Given the description of an element on the screen output the (x, y) to click on. 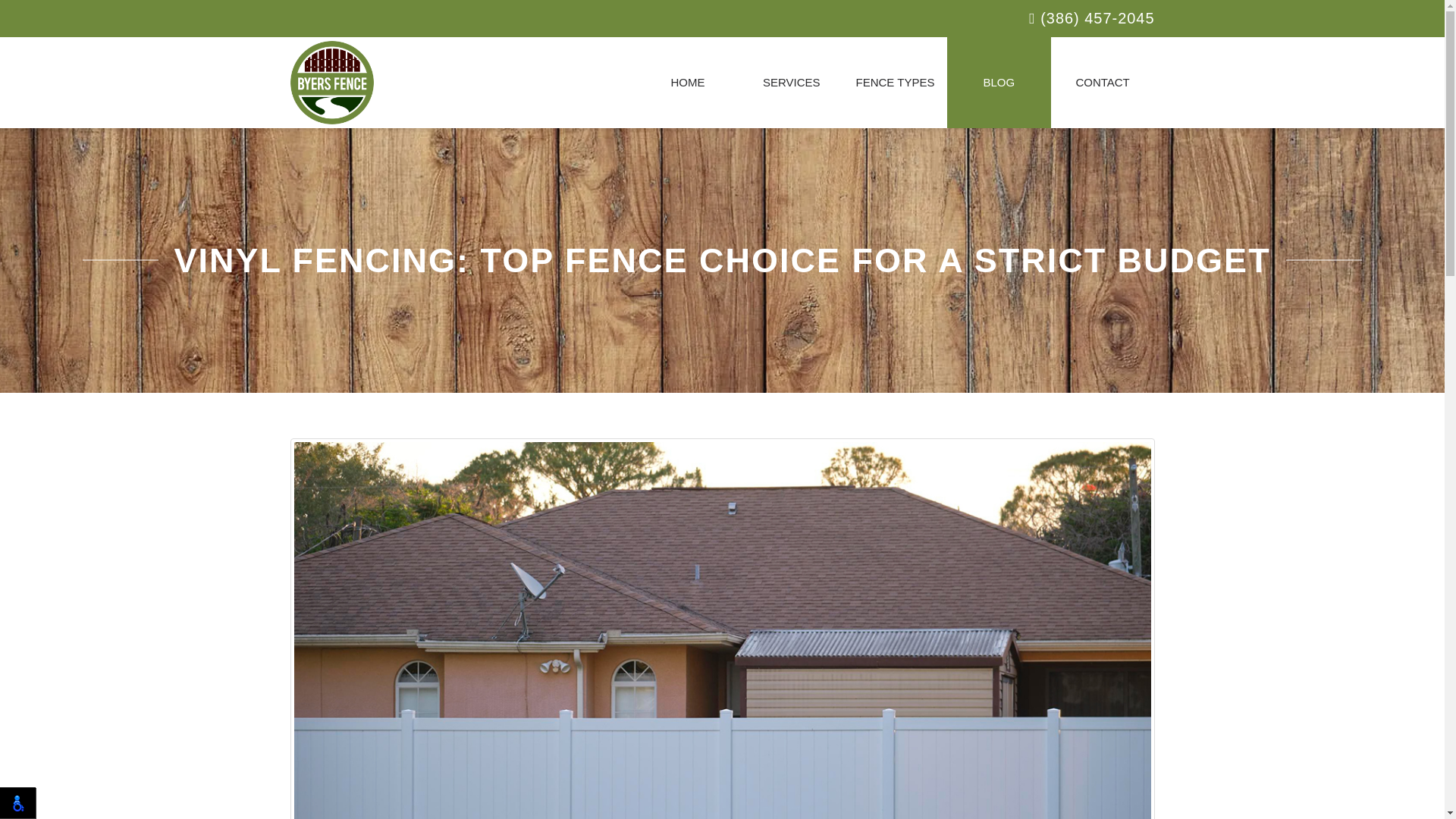
SERVICES (791, 81)
Blog (999, 81)
Contact (1102, 81)
CONTACT (1102, 81)
HOME (686, 81)
Services (791, 81)
BLOG (999, 81)
Fence Types (895, 81)
FENCE TYPES (895, 81)
Home (686, 81)
